Given the description of an element on the screen output the (x, y) to click on. 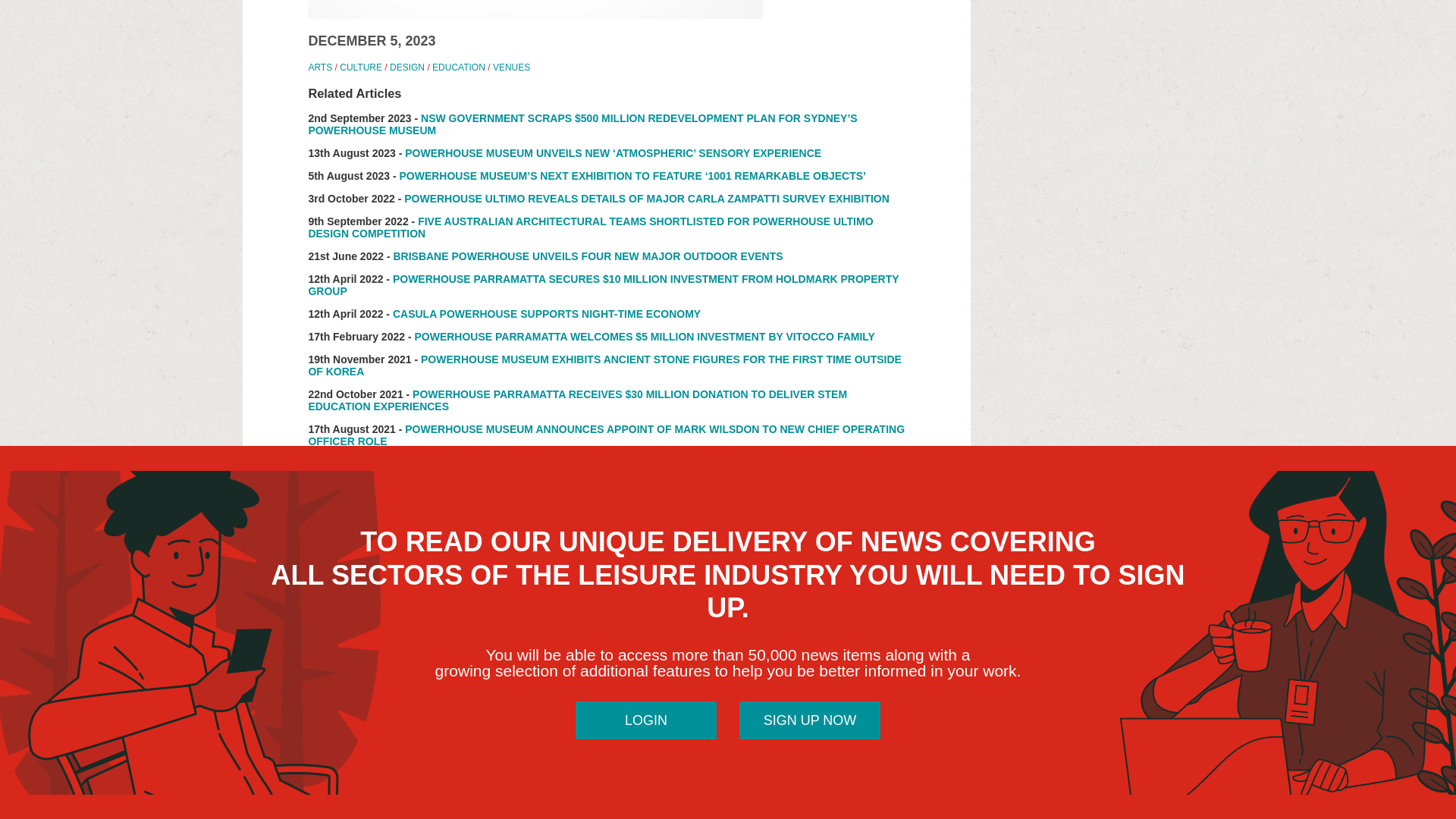
Advertisement (1098, 35)
